Given the description of an element on the screen output the (x, y) to click on. 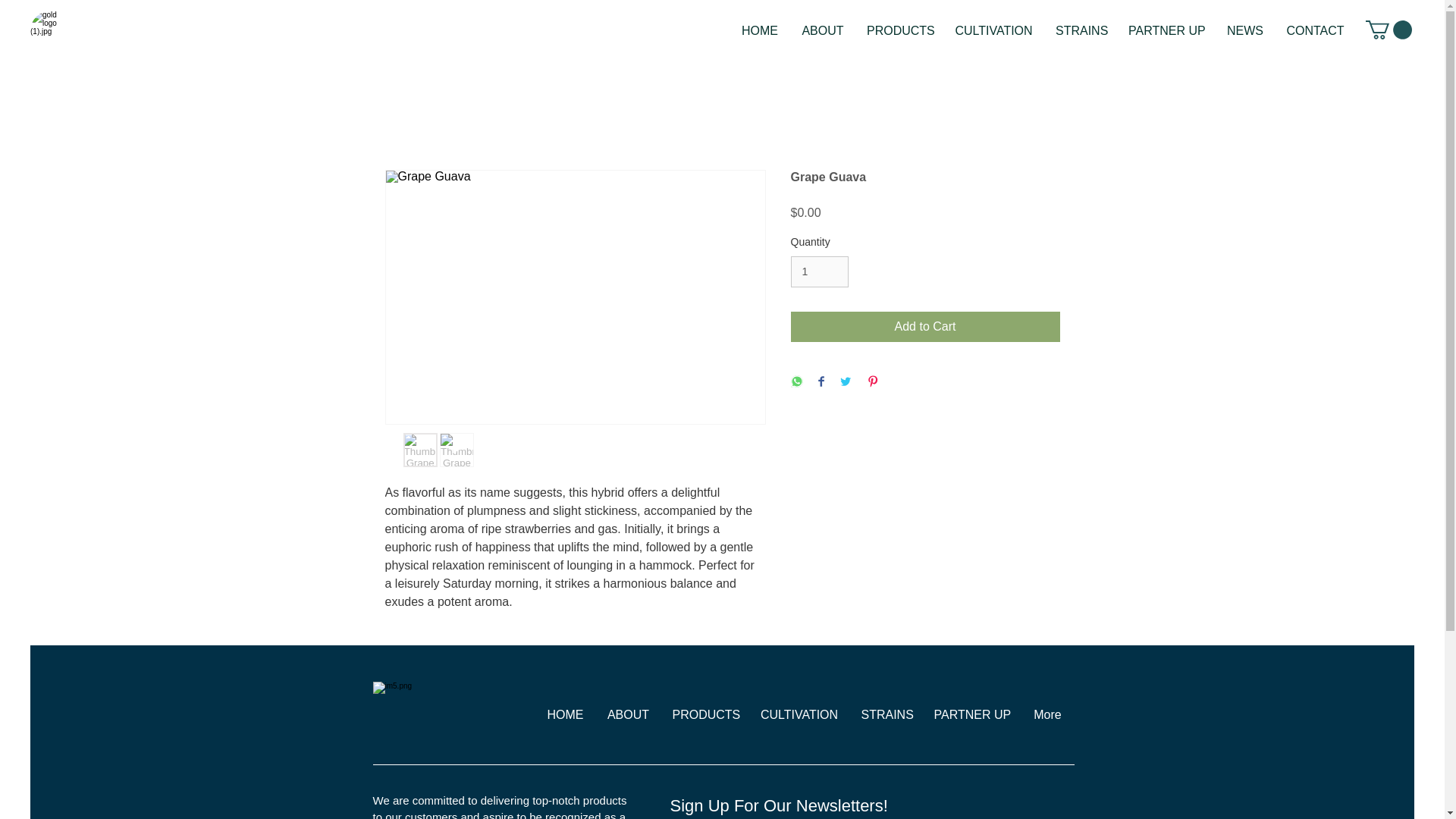
STRAINS (884, 714)
ABOUT (628, 714)
HOME (759, 30)
NEWS (1245, 30)
ABOUT (823, 30)
CULTIVATION (799, 714)
CULTIVATION (993, 30)
1 (818, 271)
Add to Cart (924, 327)
STRAINS (1079, 30)
CONTACT (1315, 30)
HOME (565, 714)
PRODUCTS (705, 714)
PRODUCTS (899, 30)
